Given the description of an element on the screen output the (x, y) to click on. 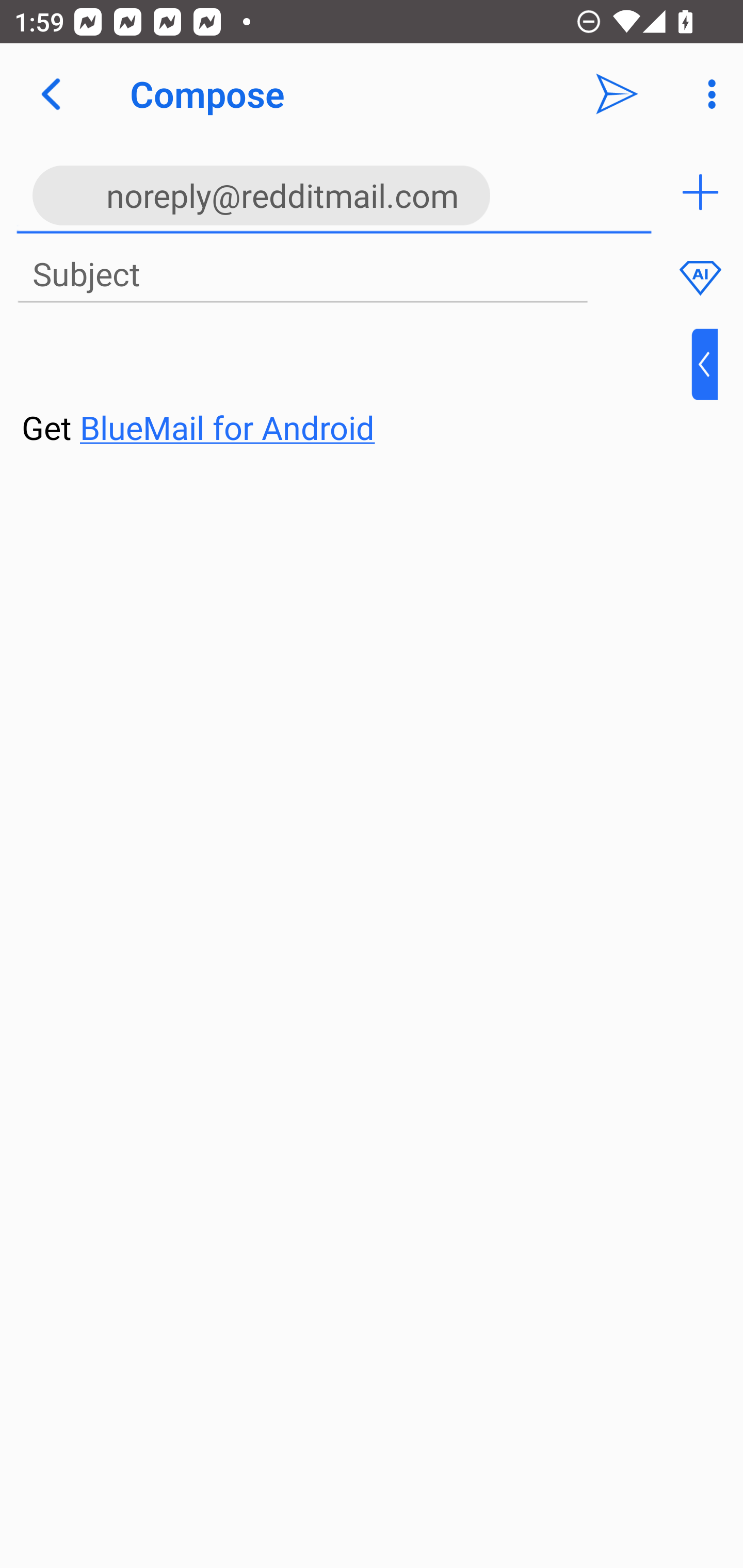
Navigate up (50, 93)
Send (616, 93)
More Options (706, 93)
<noreply@redditmail.com>,  (334, 191)
Add recipient (To) (699, 191)
Subject (302, 274)


⁣Get BlueMail for Android ​ (355, 390)
